Given the description of an element on the screen output the (x, y) to click on. 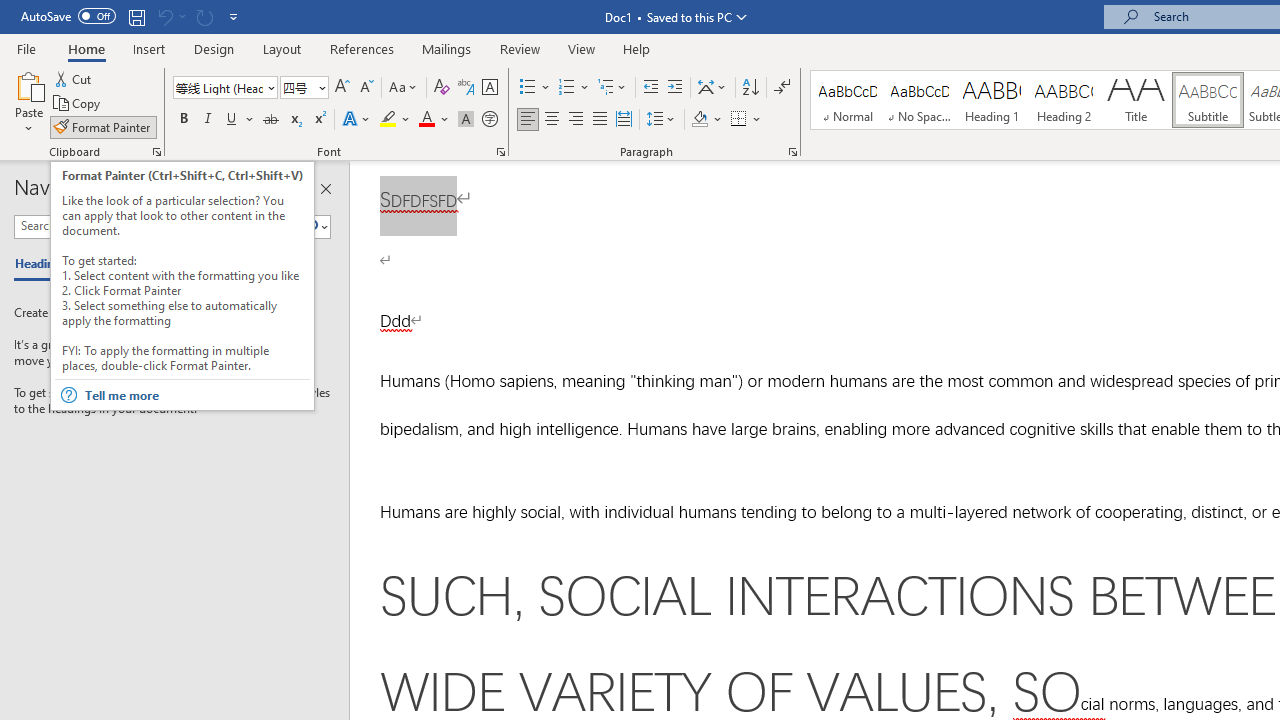
Line and Paragraph Spacing (661, 119)
More Options (757, 119)
Character Shading (465, 119)
Superscript (319, 119)
Paste (28, 102)
Heading 1 (991, 100)
Character Border (489, 87)
Results (161, 264)
Can't Repeat (204, 15)
Title (1135, 100)
Font... (500, 151)
Shrink Font (365, 87)
Open (320, 87)
Clear Formatting (442, 87)
Can't Undo (170, 15)
